Given the description of an element on the screen output the (x, y) to click on. 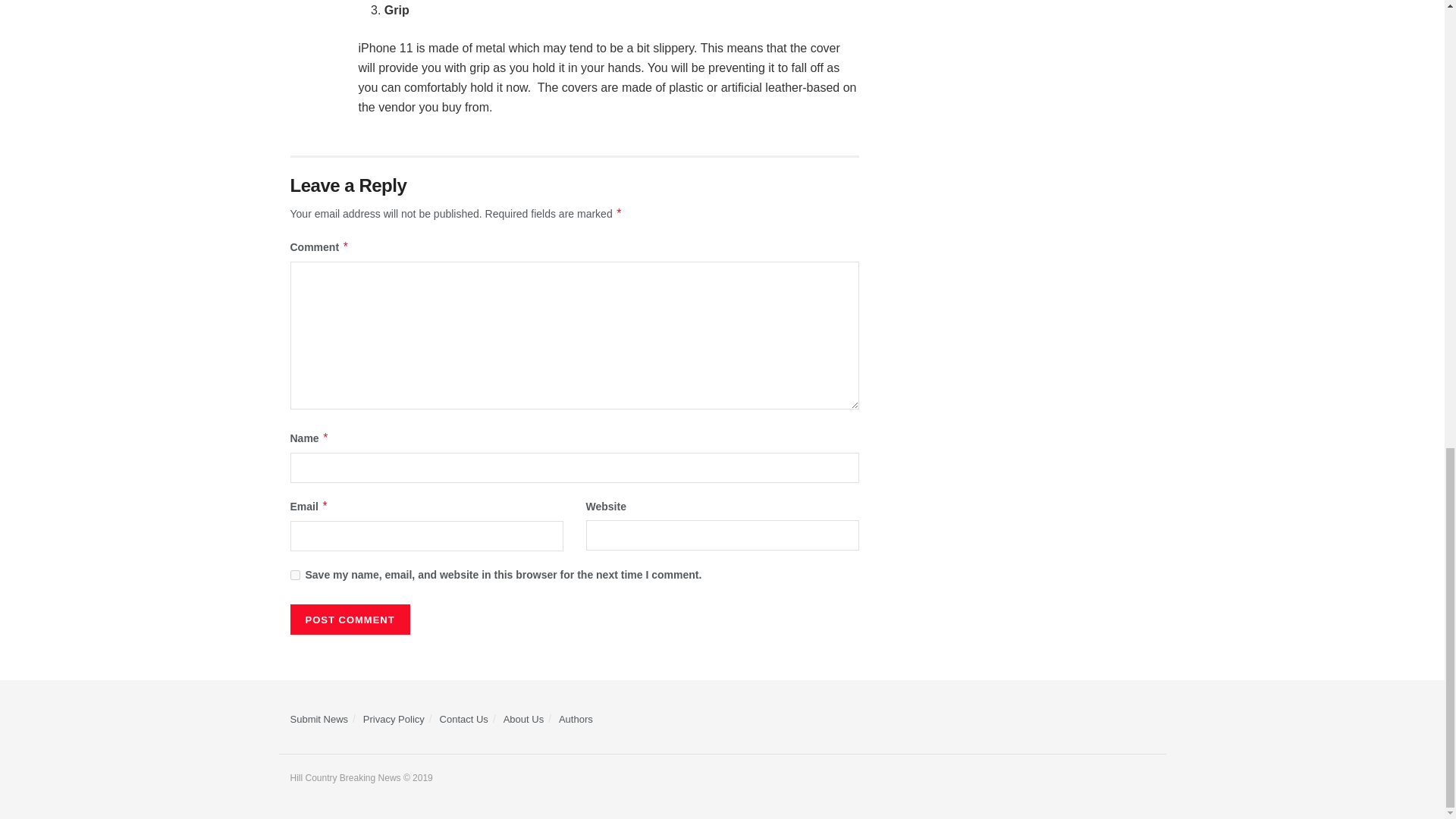
Post Comment (349, 619)
yes (294, 574)
Post Comment (349, 619)
